Given the description of an element on the screen output the (x, y) to click on. 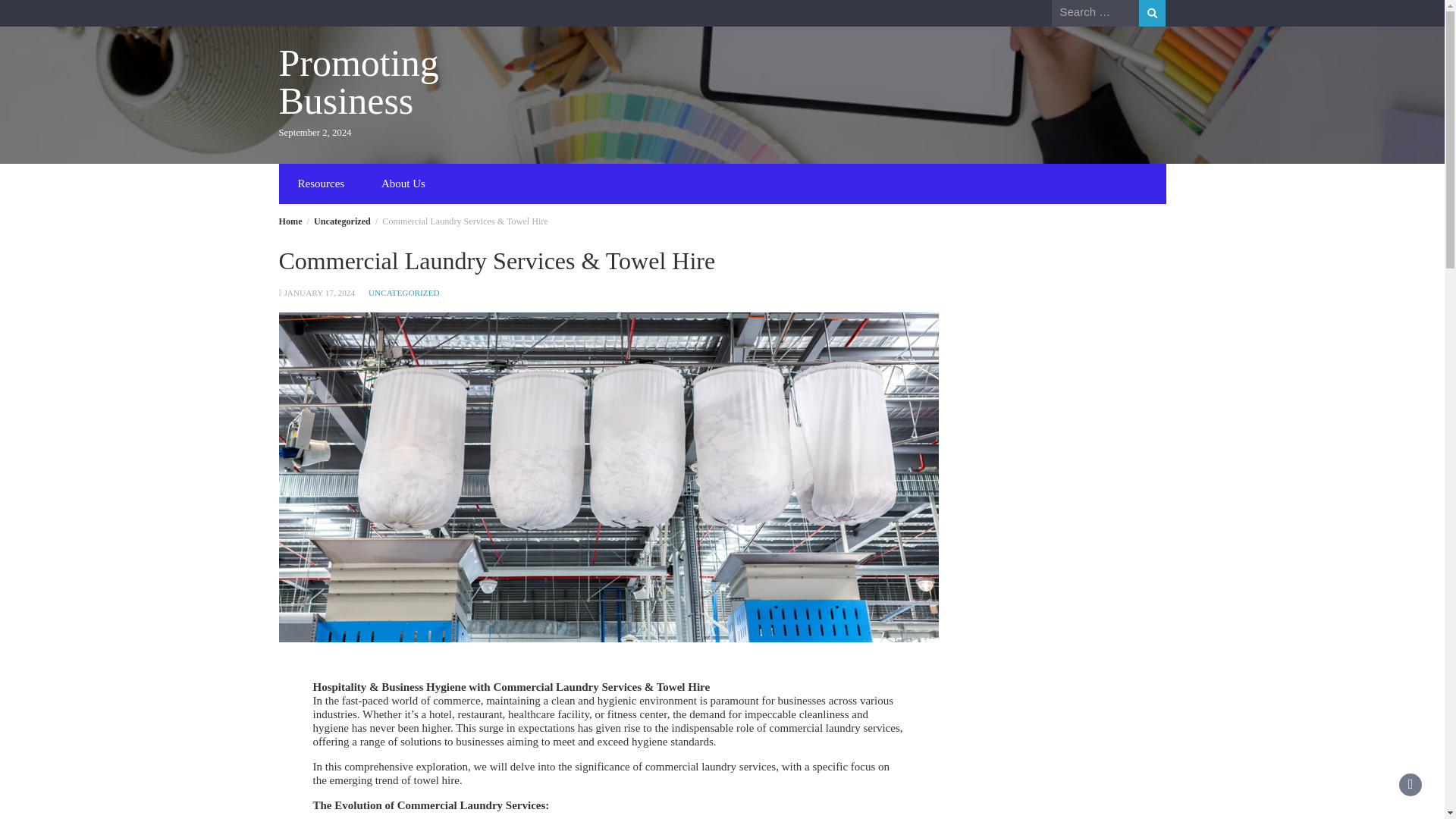
Promoting Business (359, 81)
Home (290, 221)
Uncategorized (342, 221)
Resources (320, 183)
JANUARY 17, 2024 (319, 292)
About Us (403, 183)
Search (1152, 13)
UNCATEGORIZED (403, 292)
Search (1152, 13)
Search for: (1094, 12)
